Given the description of an element on the screen output the (x, y) to click on. 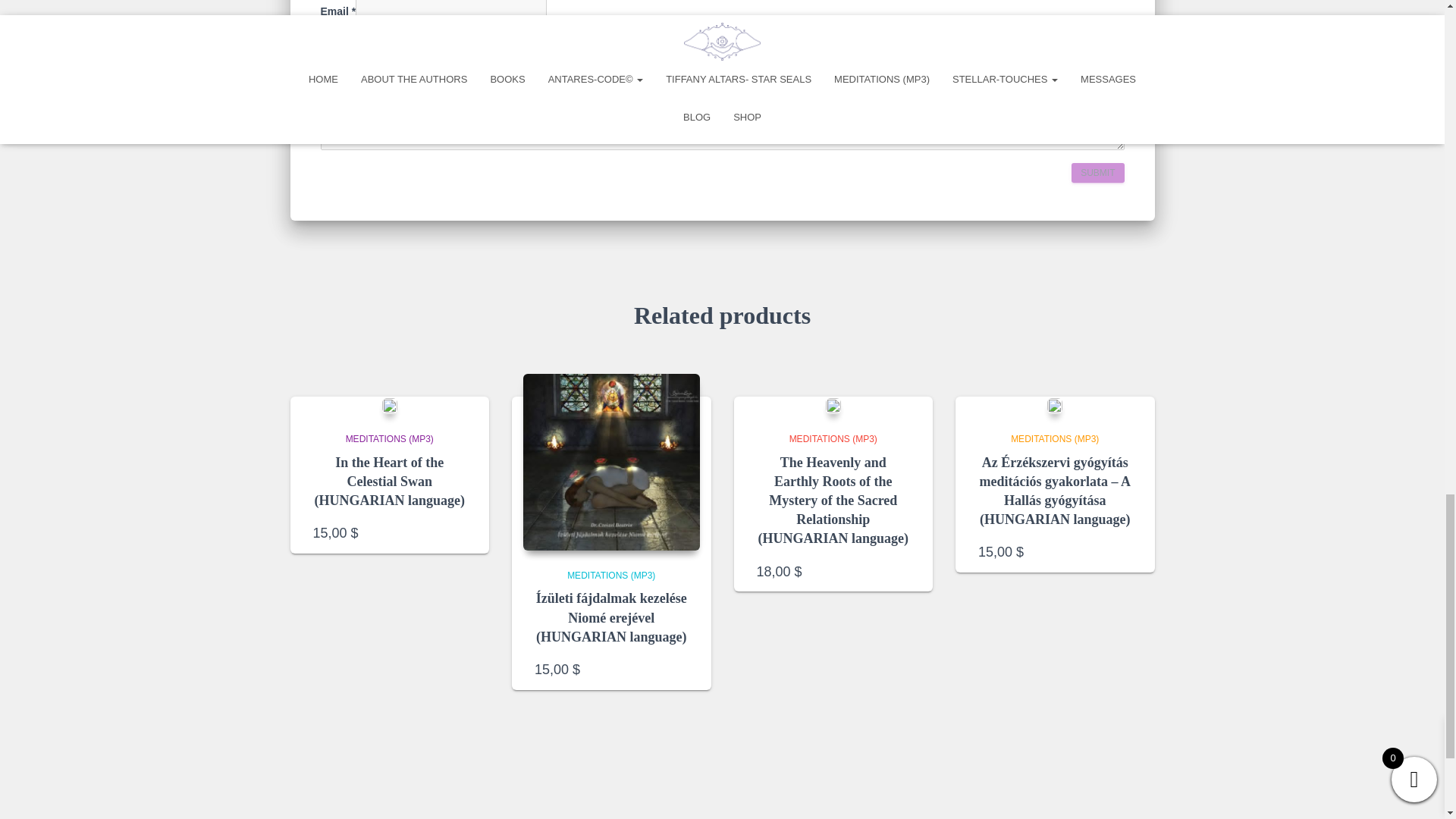
Submit (1097, 172)
Submit (1097, 172)
